Given the description of an element on the screen output the (x, y) to click on. 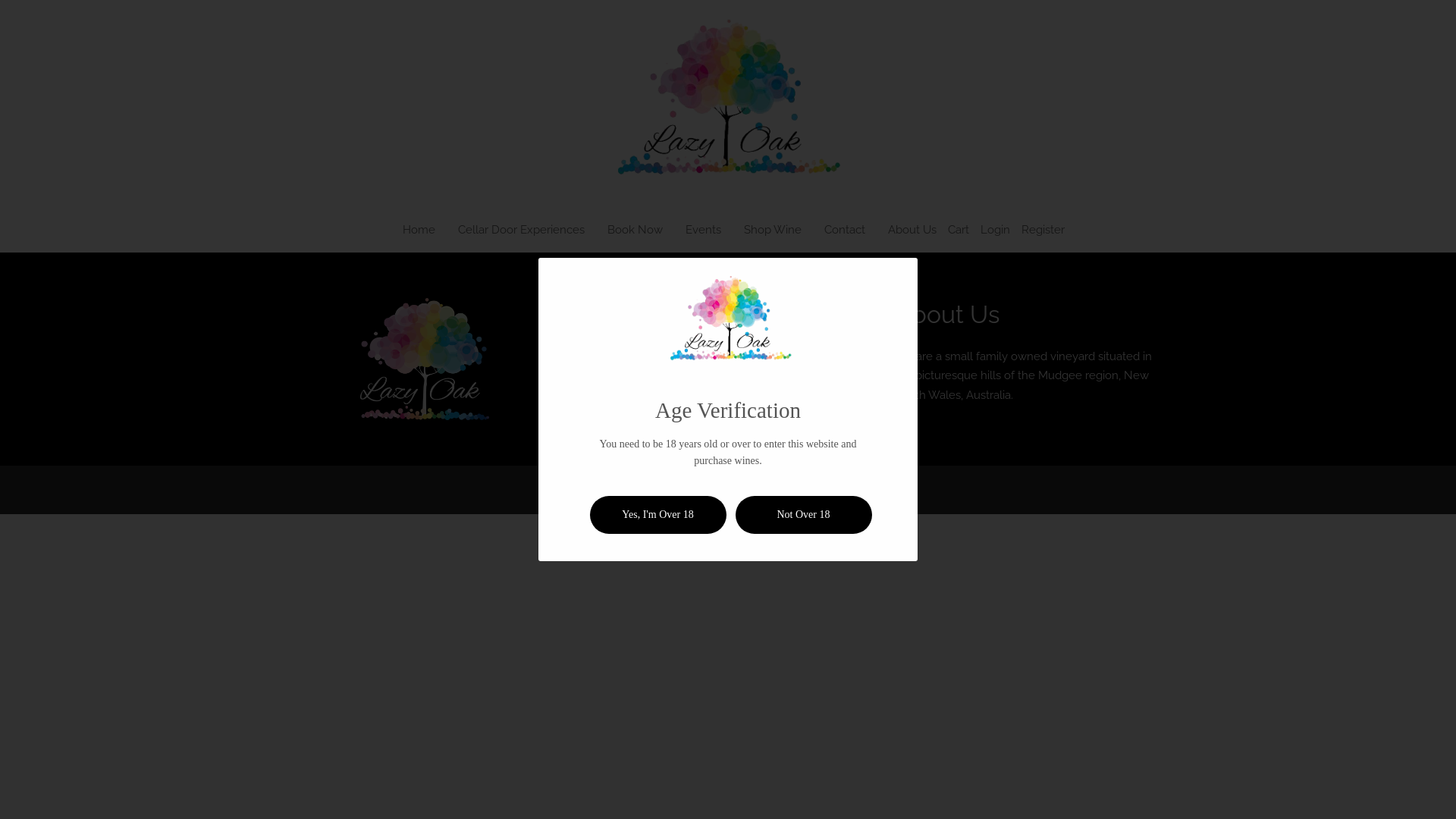
Cellar Door Experiences Element type: text (521, 229)
LazyOakLogoWhite Element type: hover (424, 359)
Register Element type: text (1042, 229)
Shop Wine Element type: text (772, 229)
Events Element type: text (703, 229)
About Us Element type: text (911, 229)
OVA Website Builder Element type: text (847, 484)
Home Element type: text (418, 229)
59 Sills Ln, Eurunderee NSW 2850 Element type: text (706, 385)
Not Over 18 Element type: text (803, 514)
Contact Element type: text (844, 229)
Book Now Element type: text (635, 229)
Cart Element type: text (958, 229)
Instagram Element type: hover (629, 413)
0419 698 816 Element type: text (649, 357)
Login Element type: text (995, 229)
Yes, I'm Over 18 Element type: text (657, 514)
